Given the description of an element on the screen output the (x, y) to click on. 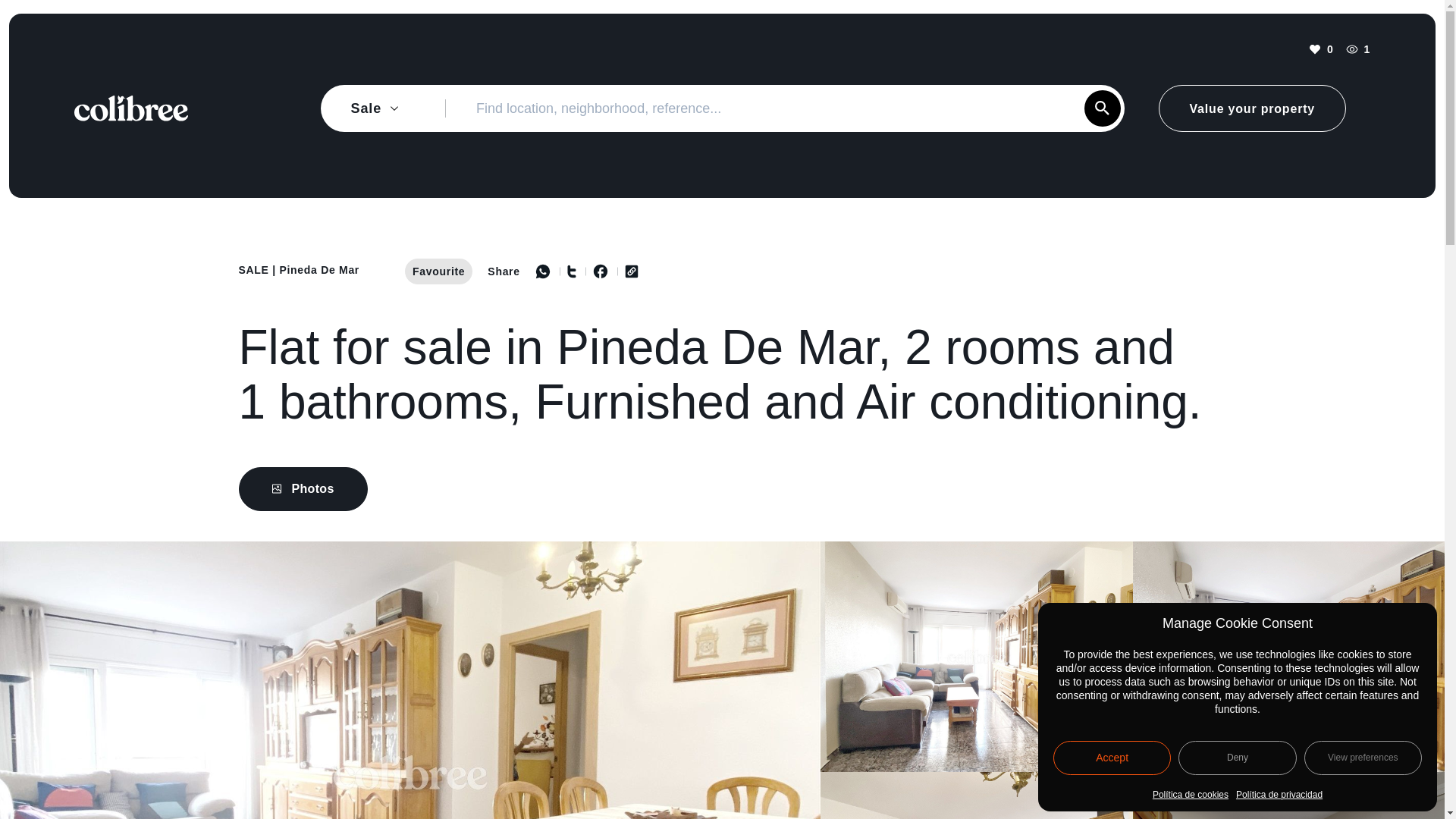
Sale (252, 269)
Favourite (437, 271)
Link (623, 271)
Submit (1102, 108)
SALE (252, 269)
Contact (1360, 768)
Photos (721, 488)
Twitter (563, 271)
View preferences (1363, 757)
Facebook (592, 271)
1 (1357, 49)
Value your property (1251, 108)
WhatsApp (542, 271)
0 (1320, 49)
